Given the description of an element on the screen output the (x, y) to click on. 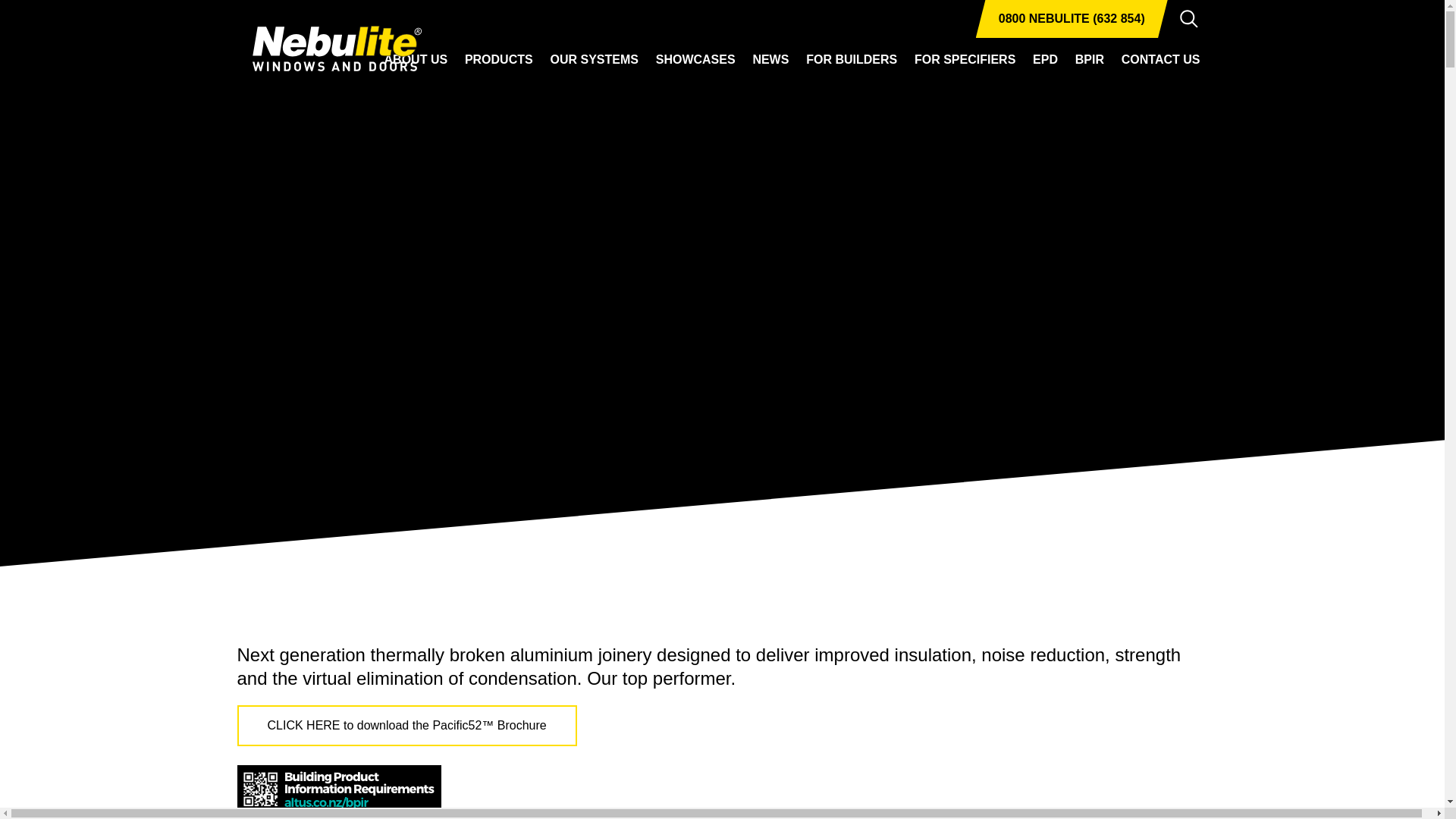
FOR BUILDERS (850, 59)
FOR SPECIFIERS (965, 59)
Pacific52 Thermal A4 Digital Brochure (405, 725)
NEWS (770, 59)
EPD (1045, 59)
BPIR (1089, 59)
CONTACT US (1160, 59)
OUR SYSTEMS (593, 59)
ABOUT US (416, 59)
PRODUCTS (498, 59)
SHOWCASES (694, 59)
